Given the description of an element on the screen output the (x, y) to click on. 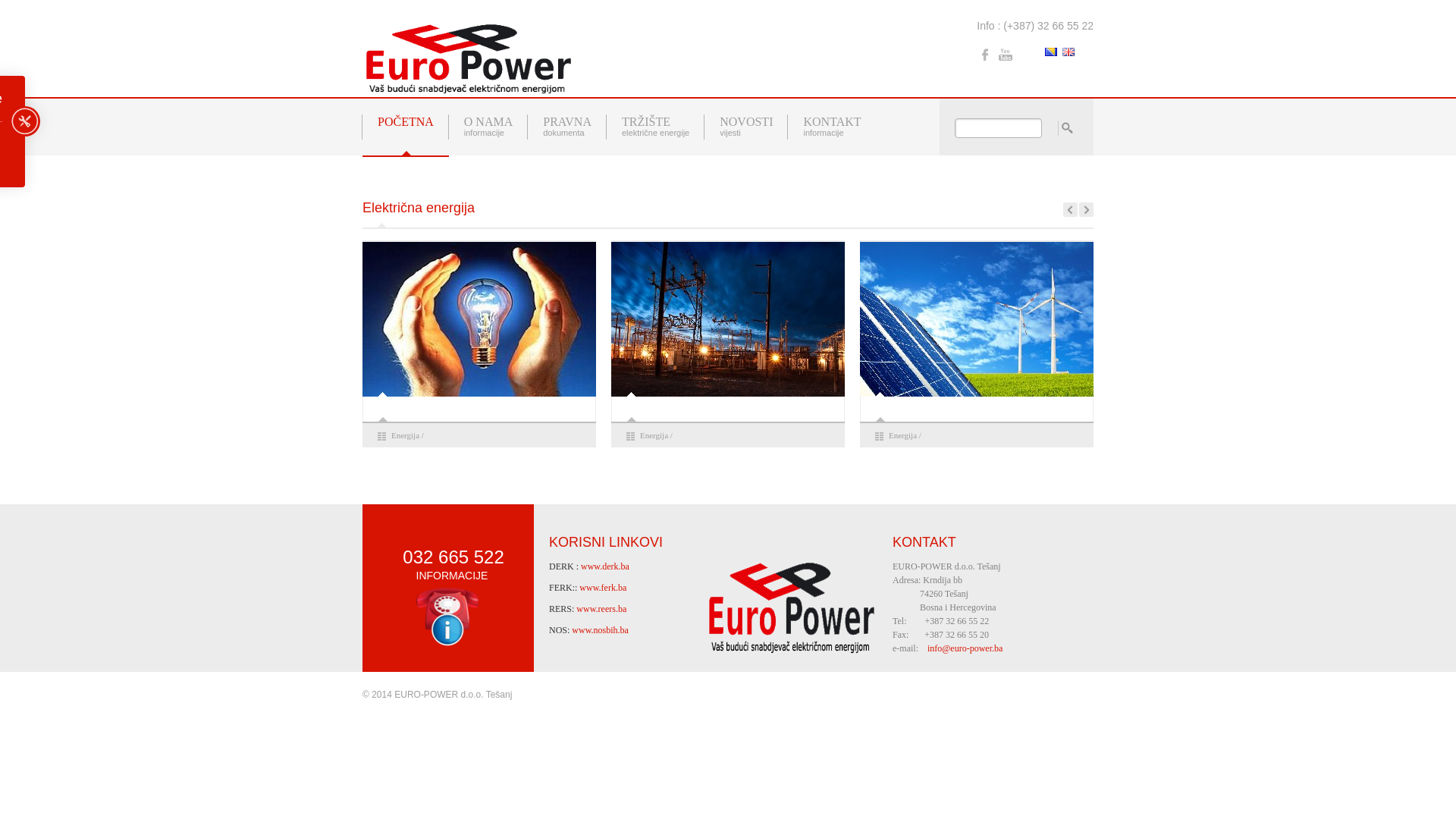
www.ferk.ba Element type: text (602, 587)
O NAMA
informacije Element type: text (487, 126)
www.nosbih.ba Element type: text (599, 629)
www.derk.ba Element type: text (604, 566)
Bosanski Element type: hover (1050, 51)
www.reers.ba Element type: text (601, 608)
Energija Element type: text (405, 434)
Energija Element type: text (654, 434)
KONTAKT
informacije Element type: text (831, 126)
info@euro-power.ba Element type: text (964, 648)
PRAVNA
dokumenta Element type: text (566, 126)
Energija Element type: text (902, 434)
NOVOSTI
vijesti Element type: text (745, 126)
